Given the description of an element on the screen output the (x, y) to click on. 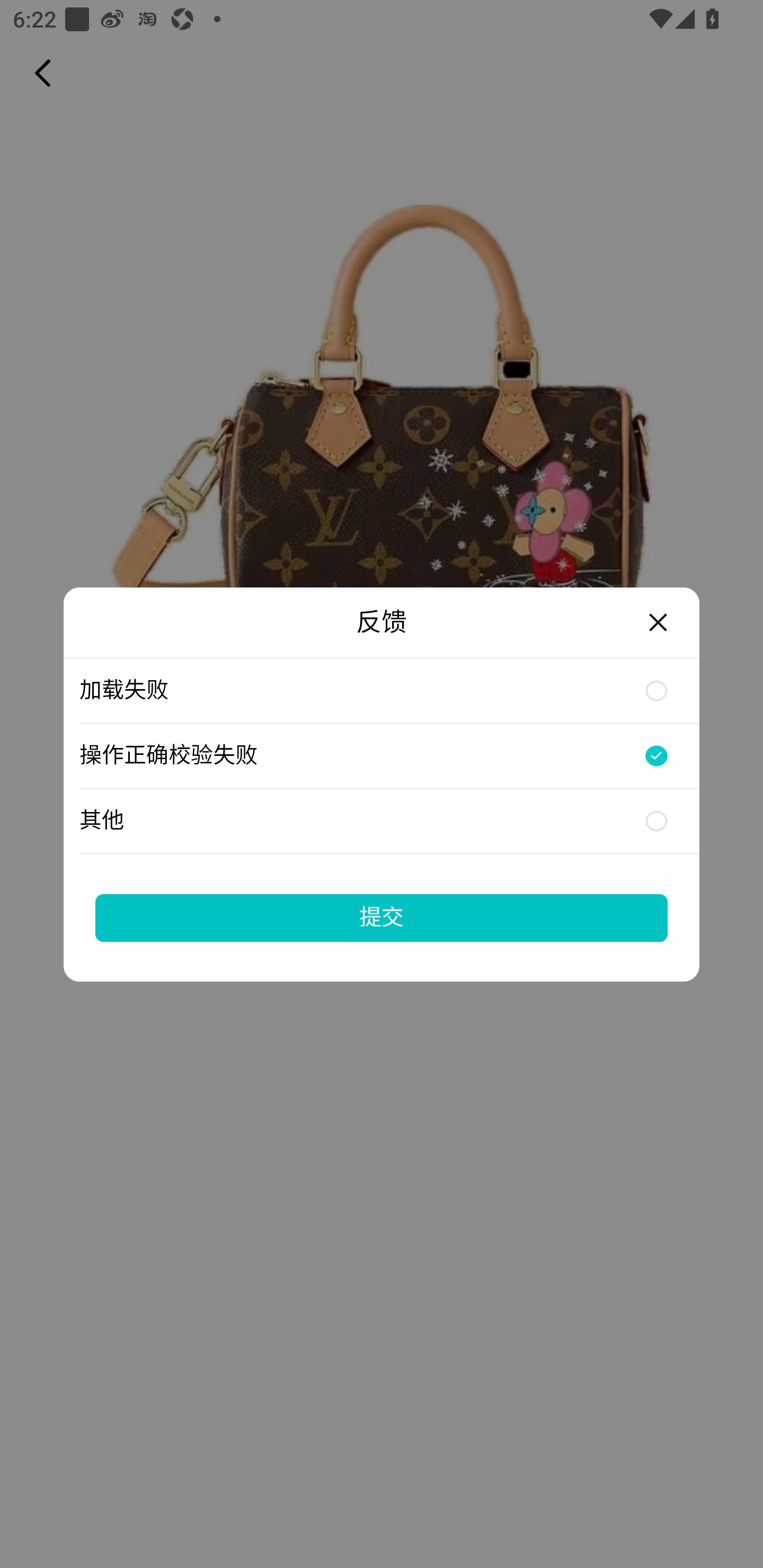
提交 (381, 917)
